Given the description of an element on the screen output the (x, y) to click on. 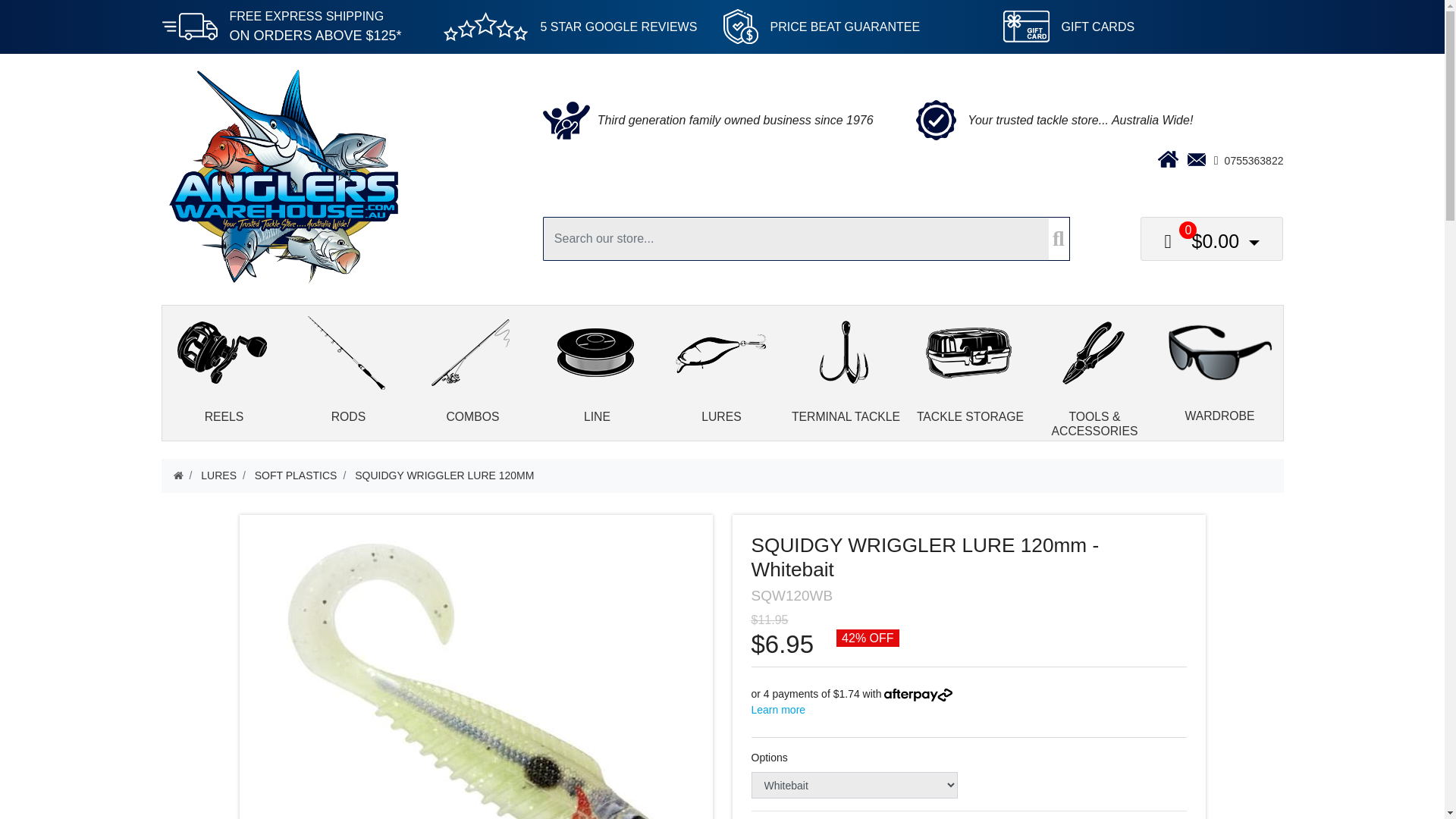
PRICE BEAT GUARANTEE (845, 25)
Anglers Warehouse (282, 174)
REELS (224, 380)
0755363822 (1254, 160)
RODS (348, 380)
GIFT CARDS (1098, 25)
COMBOS (473, 380)
